Given the description of an element on the screen output the (x, y) to click on. 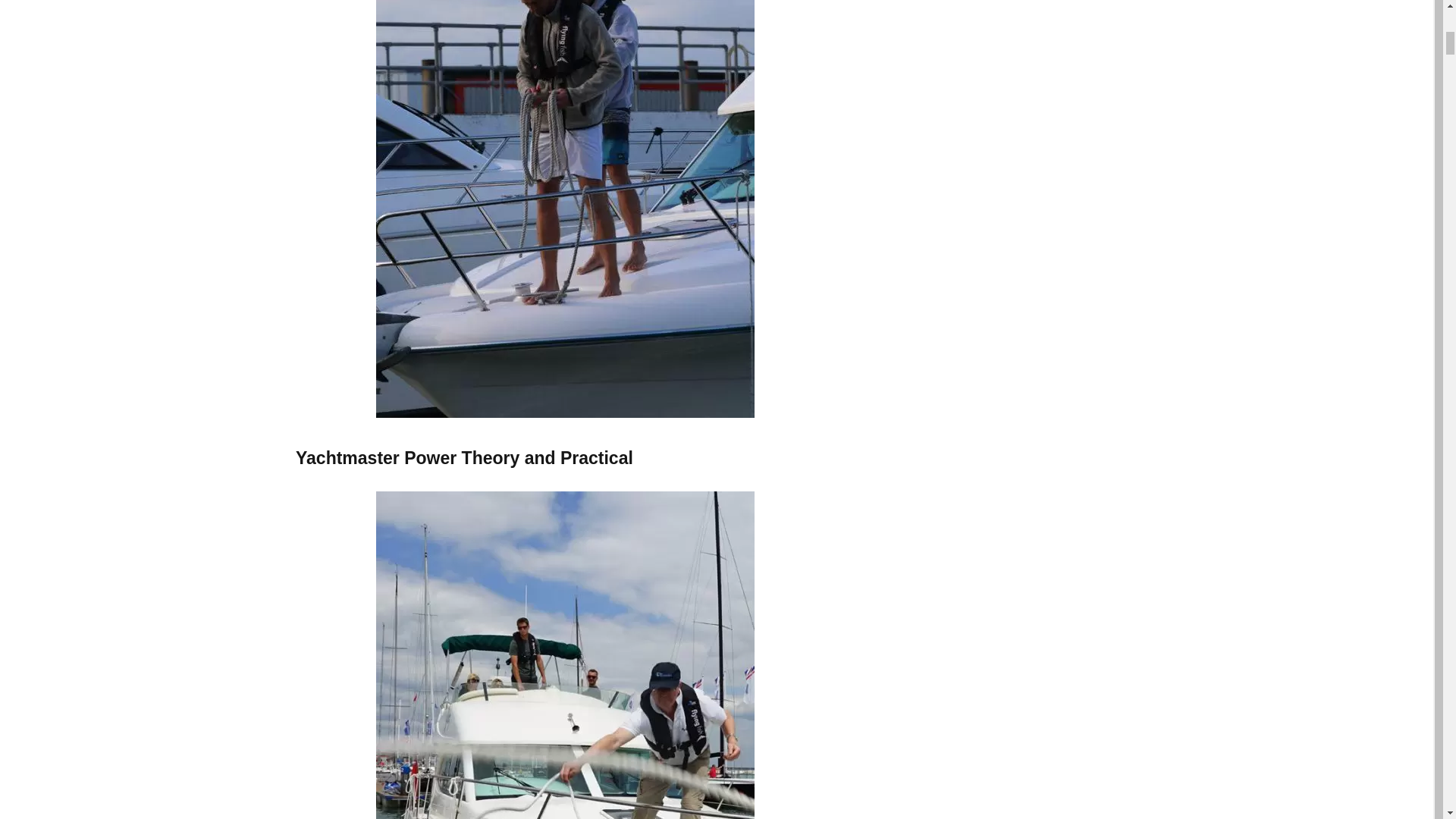
become a yachtie uk (564, 655)
